Given the description of an element on the screen output the (x, y) to click on. 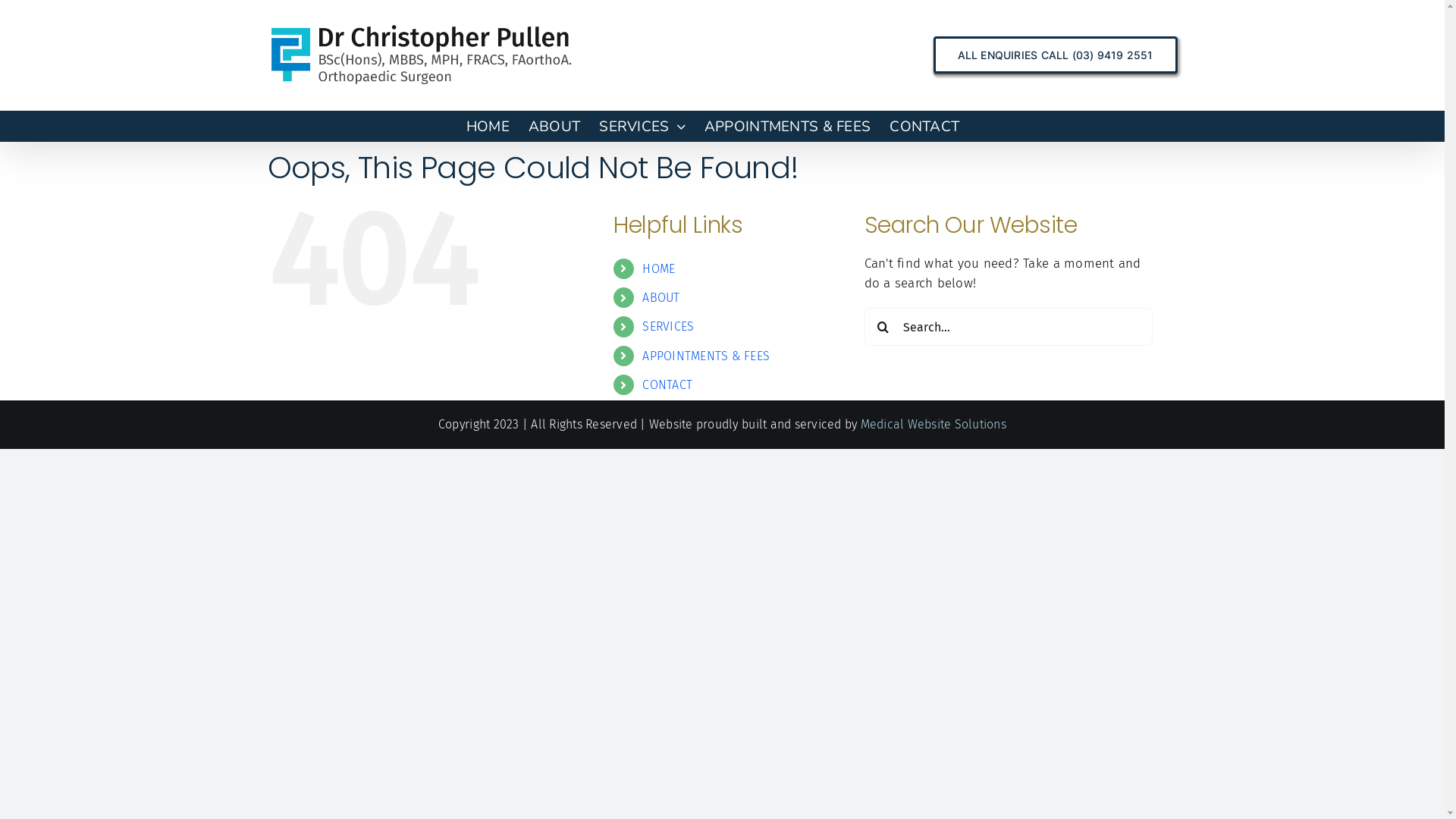
ALL ENQUIRIES CALL (03) 9419 2551 Element type: text (1055, 54)
CONTACT Element type: text (924, 125)
HOME Element type: text (658, 268)
SERVICES Element type: text (642, 125)
APPOINTMENTS & FEES Element type: text (787, 125)
ABOUT Element type: text (554, 125)
APPOINTMENTS & FEES Element type: text (705, 355)
Medical Website Solutions Element type: text (933, 424)
ABOUT Element type: text (660, 297)
HOME Element type: text (487, 125)
CONTACT Element type: text (667, 384)
SERVICES Element type: text (667, 326)
